Given the description of an element on the screen output the (x, y) to click on. 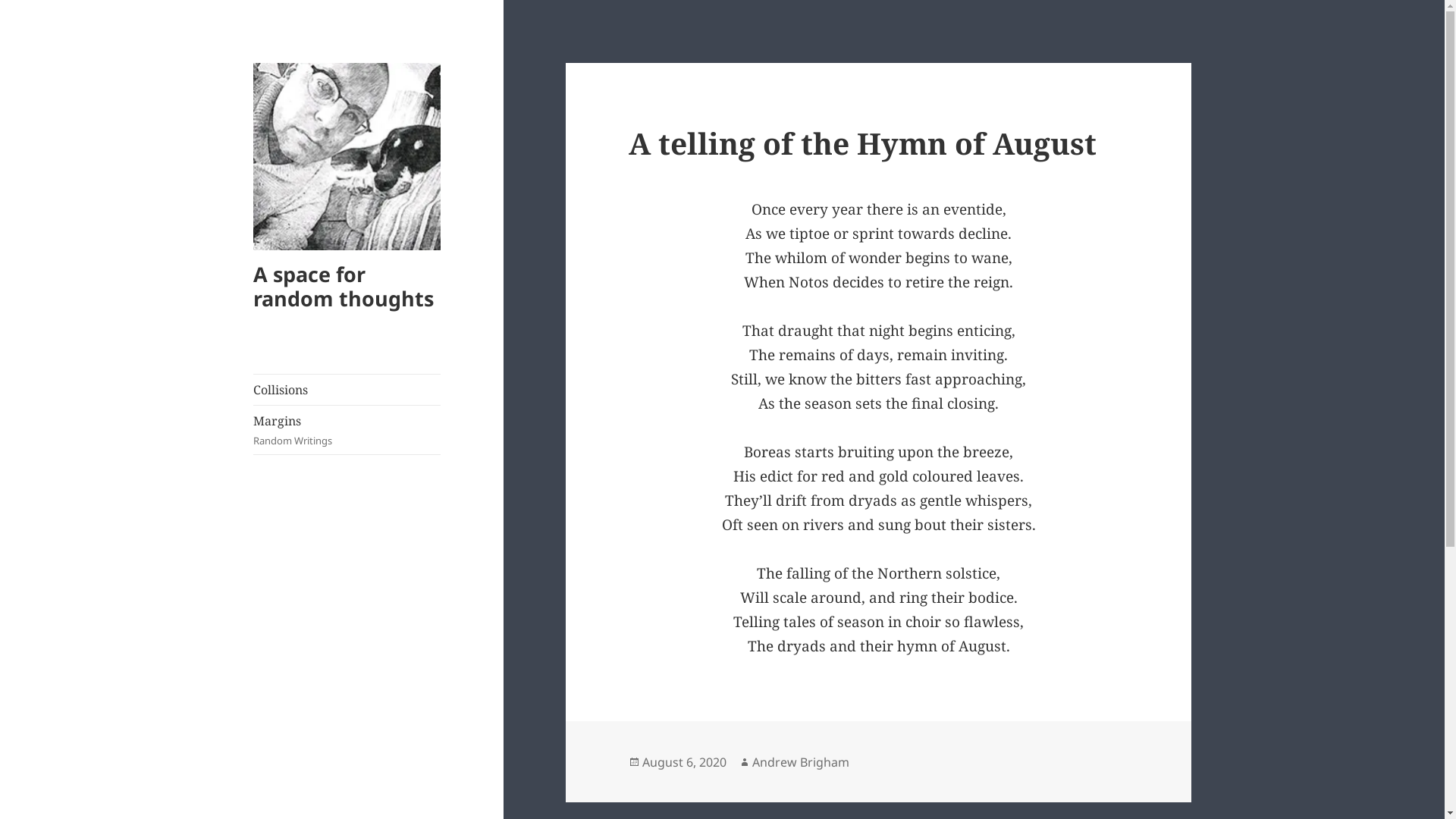
August 6, 2020 Element type: text (684, 762)
Andrew Brigham Element type: text (800, 762)
Collisions Element type: text (347, 389)
A space for random thoughts Element type: text (343, 286)
Margins
Random Writings Element type: text (347, 429)
